Given the description of an element on the screen output the (x, y) to click on. 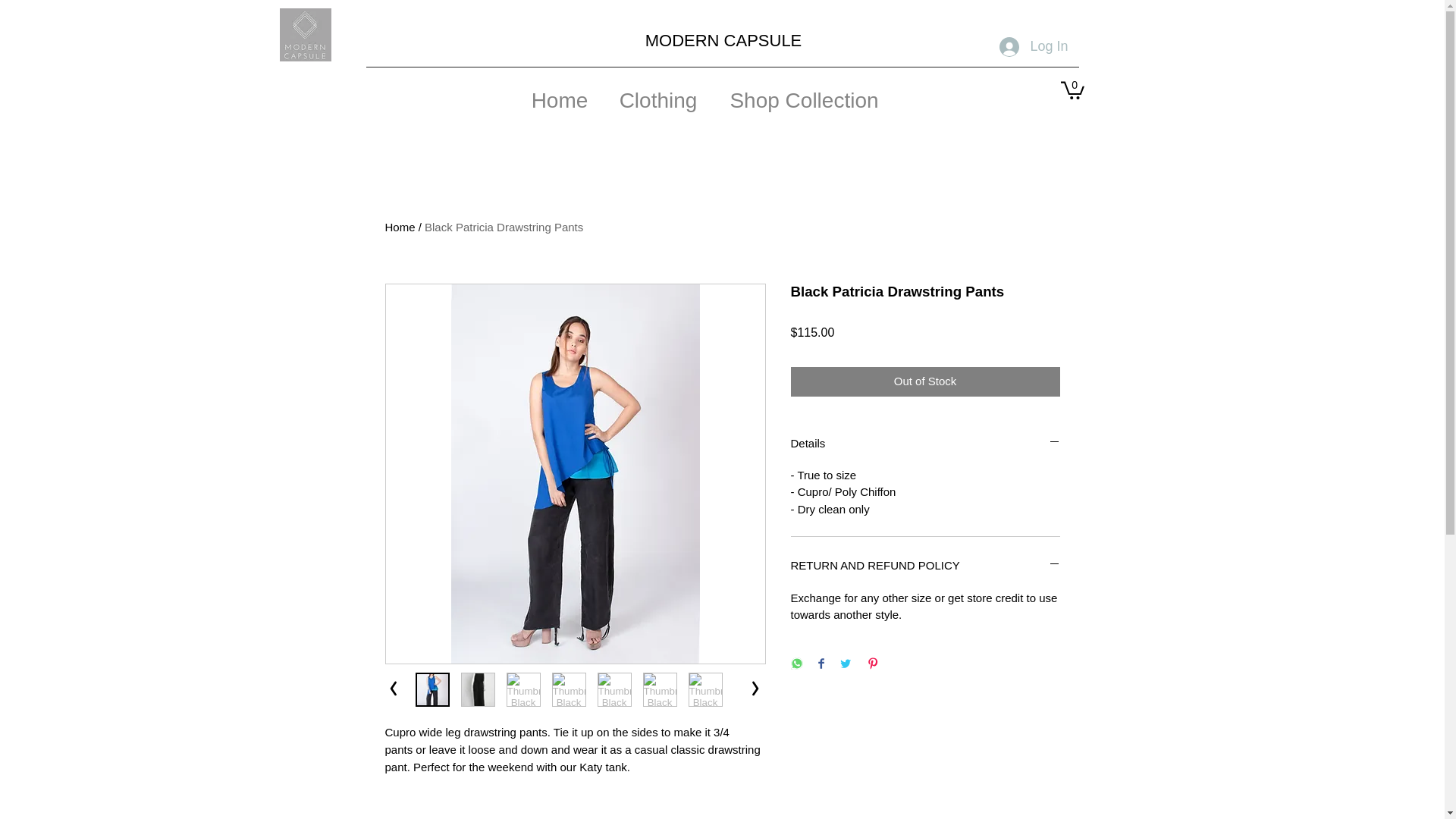
0 (1071, 89)
Clothing (658, 94)
Out of Stock (924, 381)
Details (924, 443)
MODERN CAPSULE (723, 40)
RETURN AND REFUND POLICY (924, 565)
0 (1071, 89)
Home (559, 94)
Shop Collection (804, 94)
Home (399, 226)
Black Patricia Drawstring Pants (504, 226)
Log In (1033, 46)
